Given the description of an element on the screen output the (x, y) to click on. 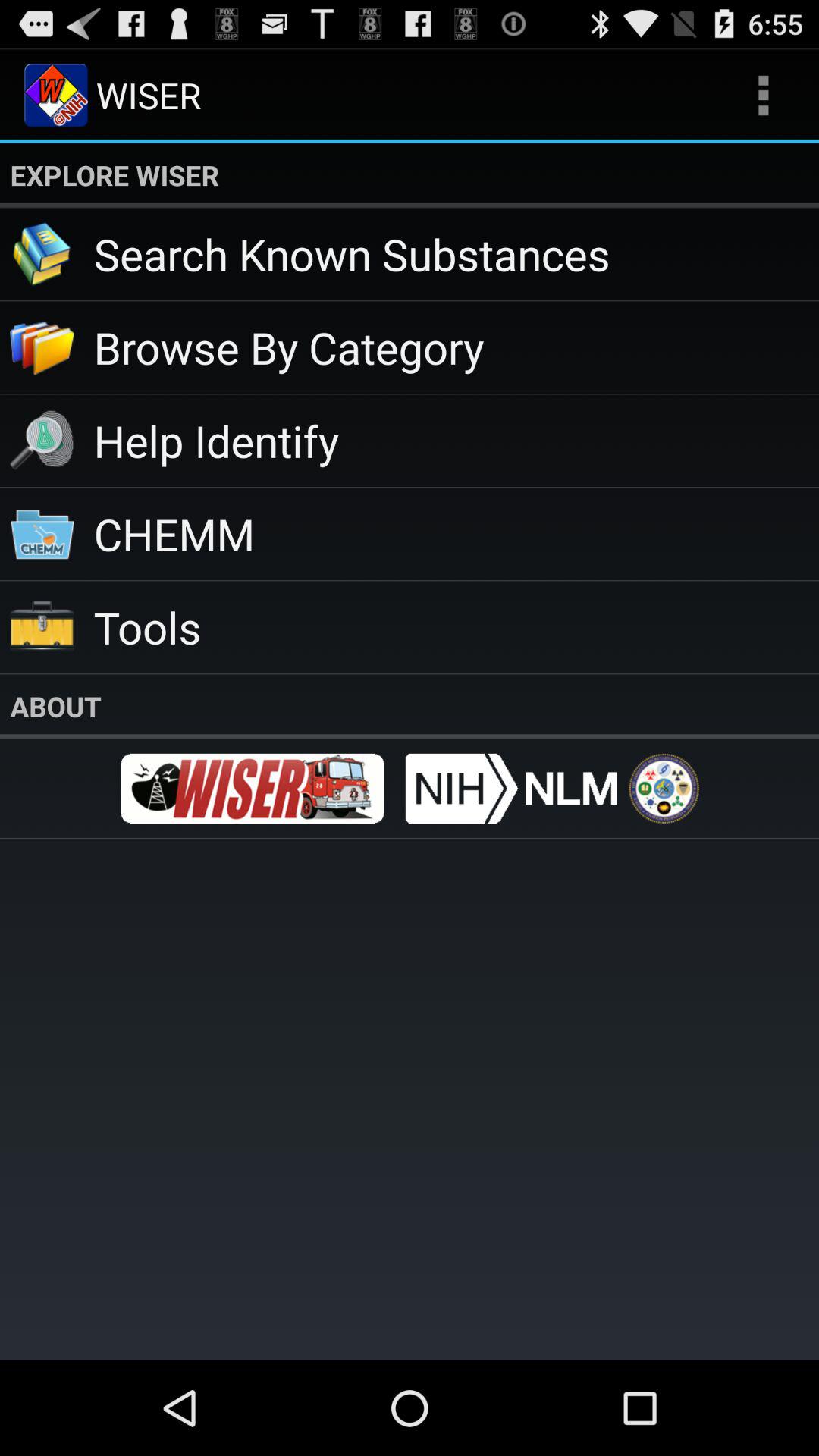
click about app (409, 706)
